Given the description of an element on the screen output the (x, y) to click on. 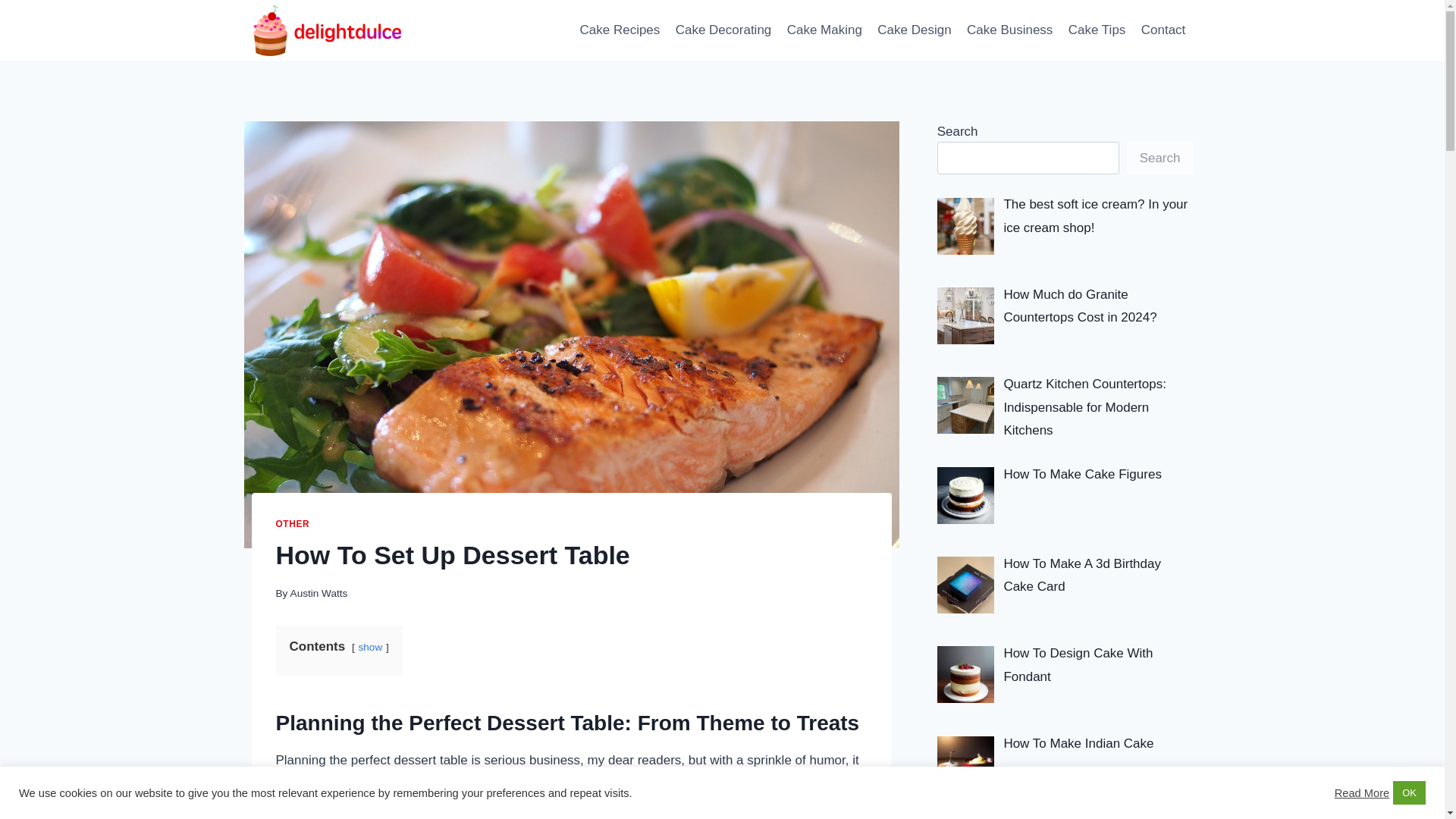
Cake Tips (1097, 30)
Contact (1163, 30)
Austin Watts (318, 593)
Cake Making (824, 30)
Cake Business (1010, 30)
Cake Design (914, 30)
Cake Recipes (619, 30)
OTHER (293, 523)
show (369, 646)
Cake Decorating (722, 30)
